Given the description of an element on the screen output the (x, y) to click on. 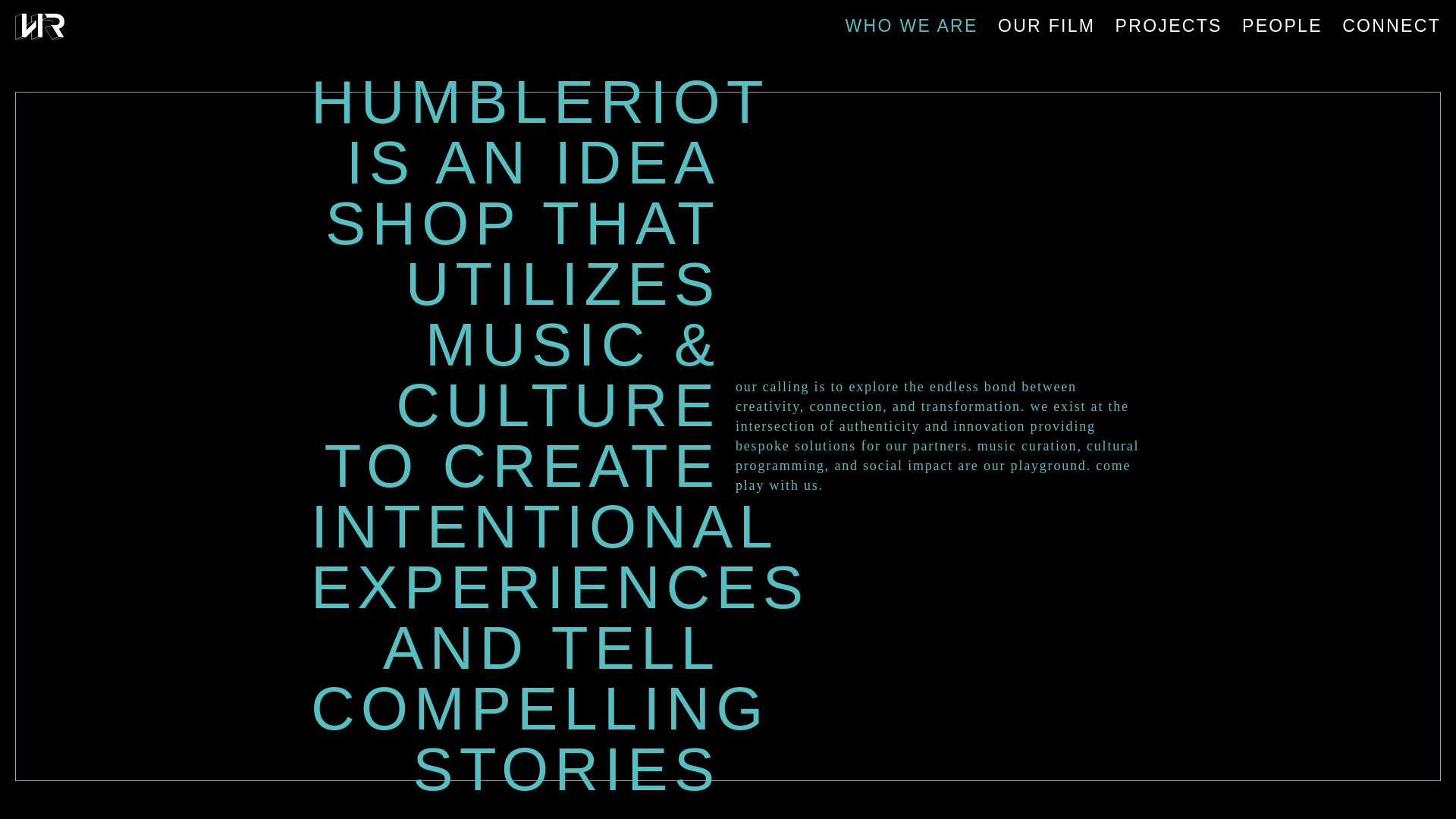
OUR FILM (1045, 25)
CONNECT (1391, 25)
PROJECTS (1169, 25)
WHO WE ARE (911, 25)
PEOPLE (1281, 25)
